Given the description of an element on the screen output the (x, y) to click on. 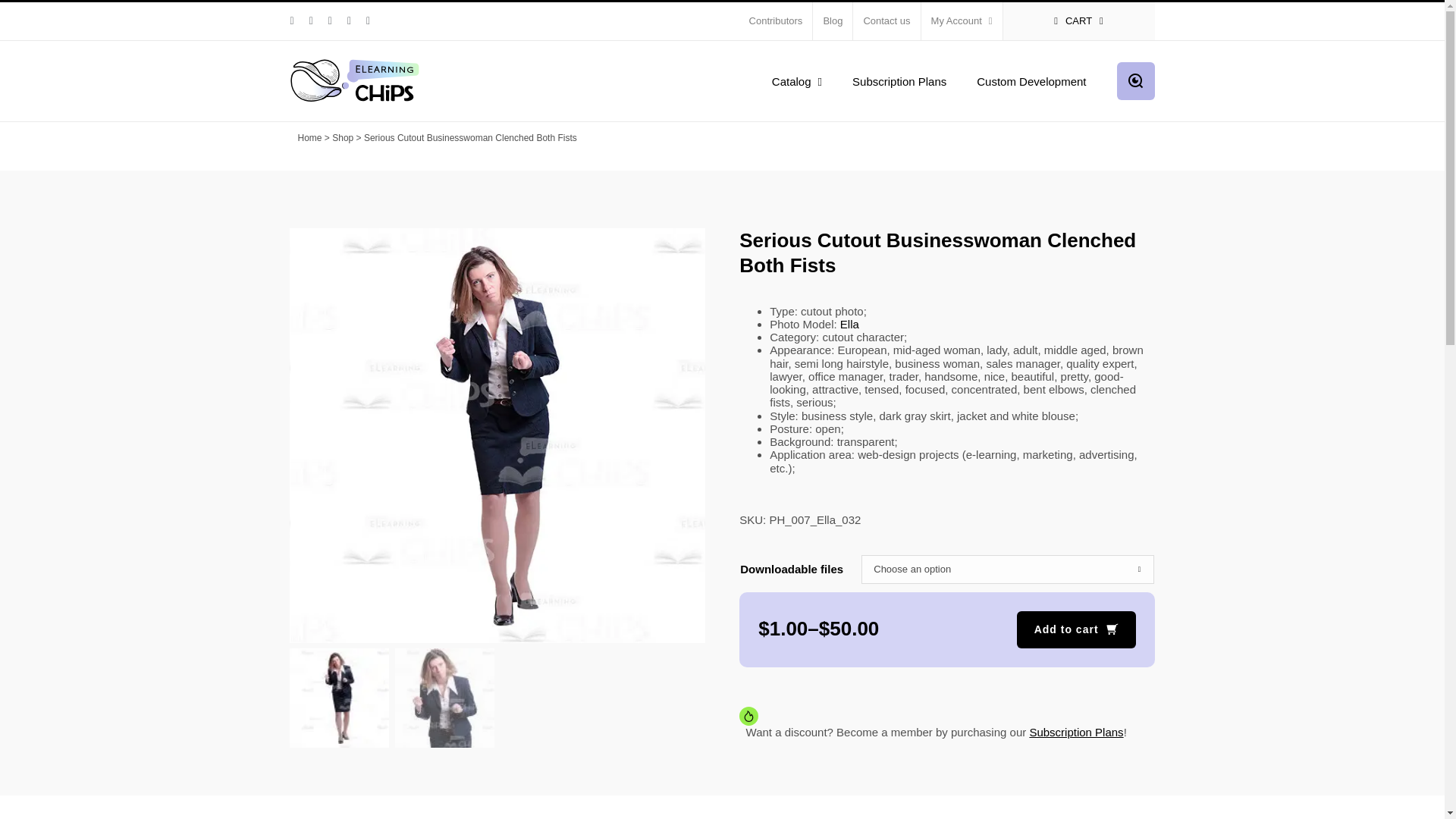
Search (1135, 80)
Log In (1025, 165)
My Account (962, 21)
Contributors (775, 21)
Blog (831, 21)
CART (1078, 21)
Custom Development (1031, 79)
Subscription Plans (898, 79)
Contact us (886, 21)
